Given the description of an element on the screen output the (x, y) to click on. 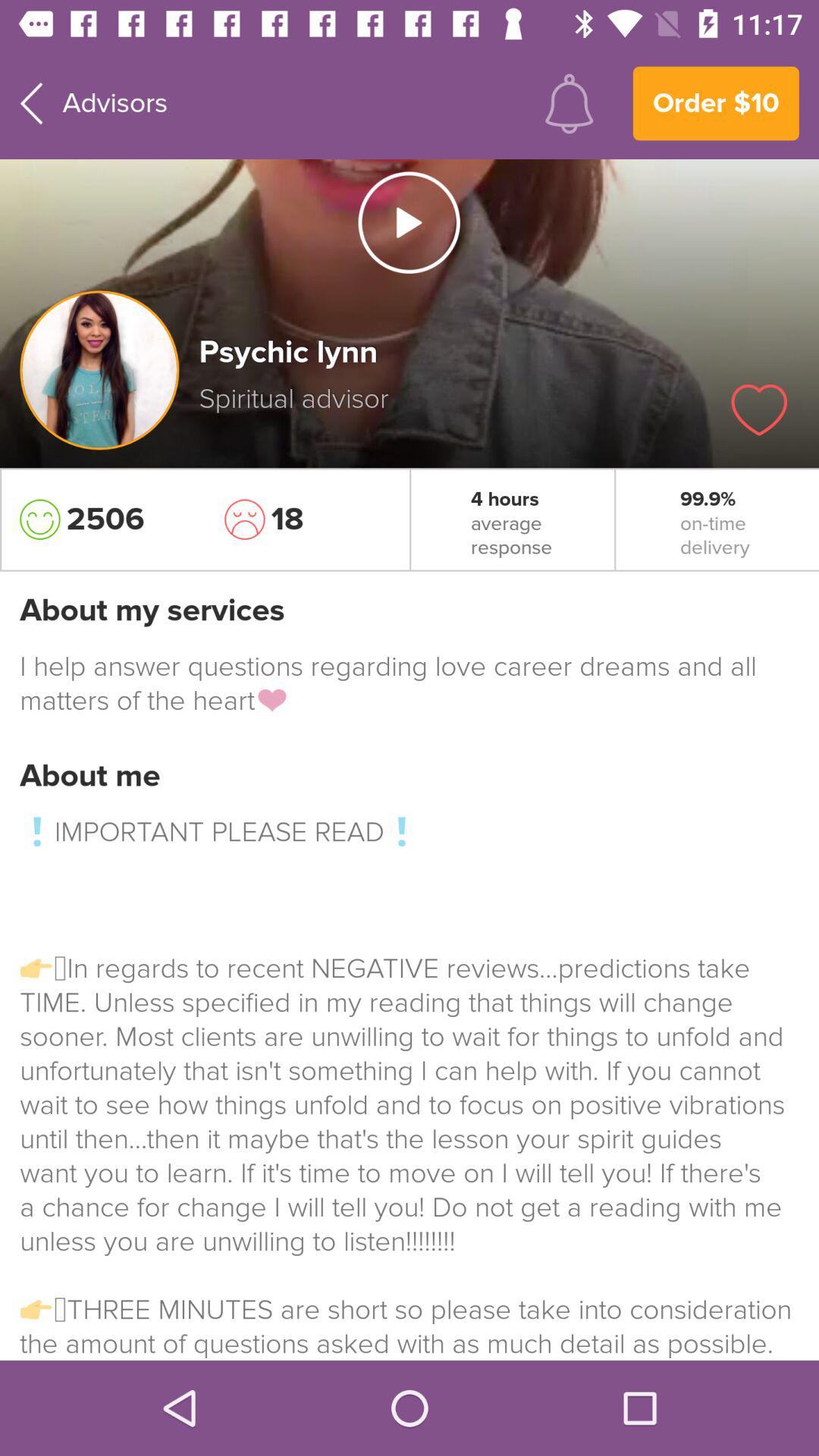
notifications (569, 103)
